Given the description of an element on the screen output the (x, y) to click on. 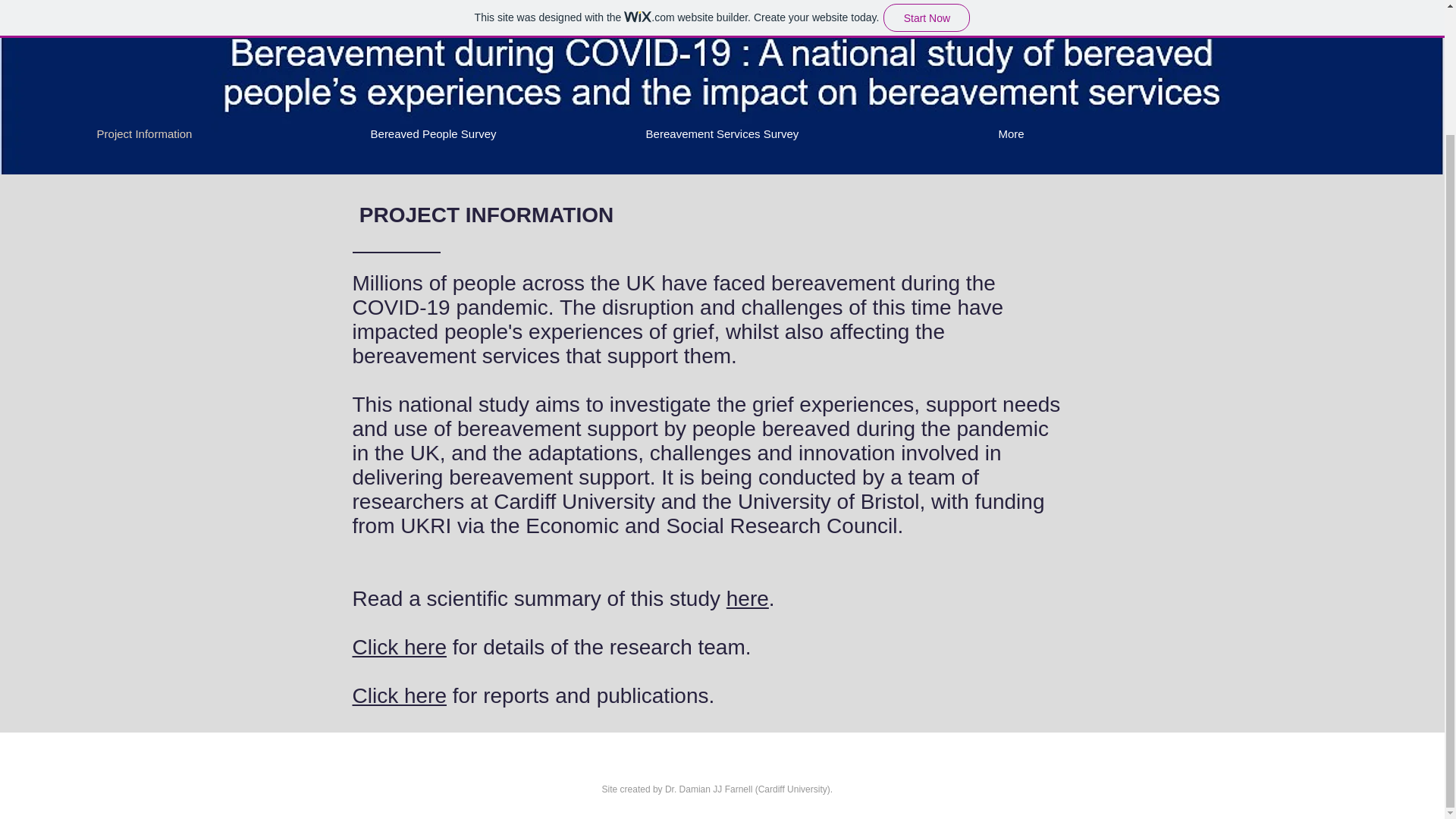
here (747, 598)
Bereaved People Survey (433, 133)
Click here (398, 695)
Bereavement Services Survey (722, 133)
Click here (398, 647)
Project Information (144, 133)
